Given the description of an element on the screen output the (x, y) to click on. 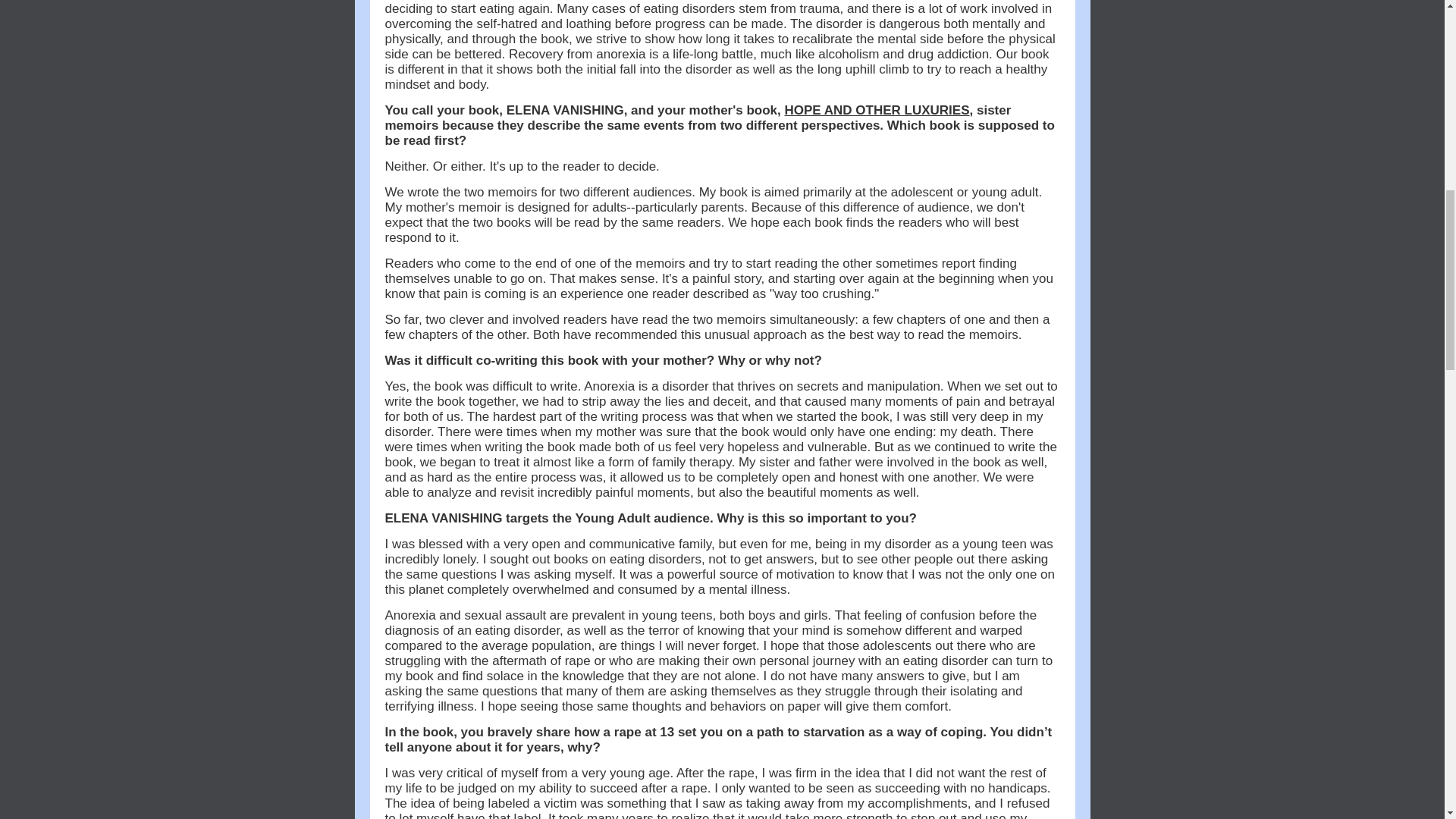
HOPE AND OTHER LUXURIES (876, 110)
